Given the description of an element on the screen output the (x, y) to click on. 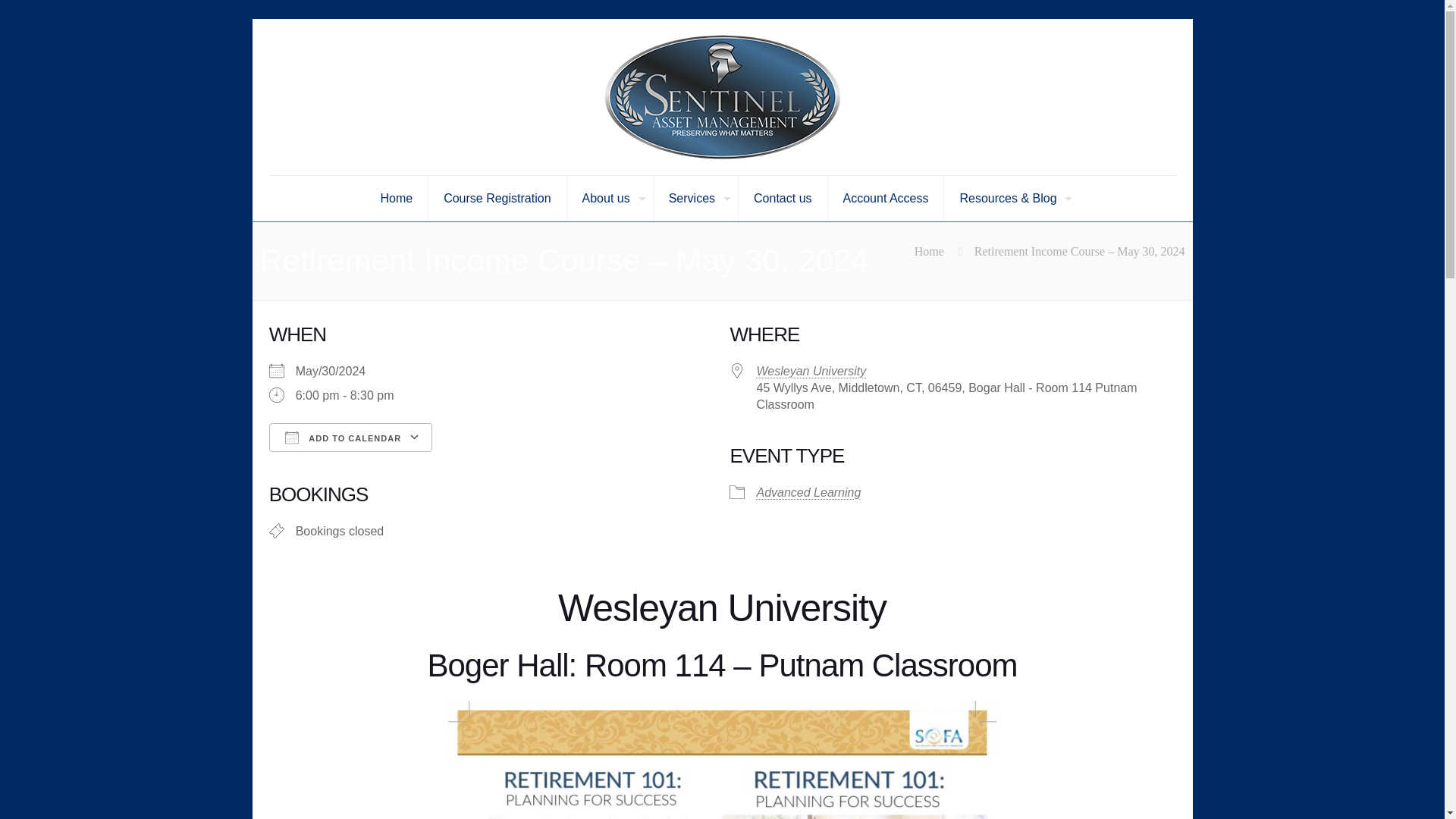
Download ICS (342, 464)
ADD TO CALENDAR (350, 437)
Services (695, 198)
Course Registration (497, 198)
Sentinel Asset Management, LLC. (721, 96)
Wesleyan University (810, 370)
Account Access (886, 198)
About us (610, 198)
Google Calendar (492, 464)
Advanced Learning (807, 492)
